Given the description of an element on the screen output the (x, y) to click on. 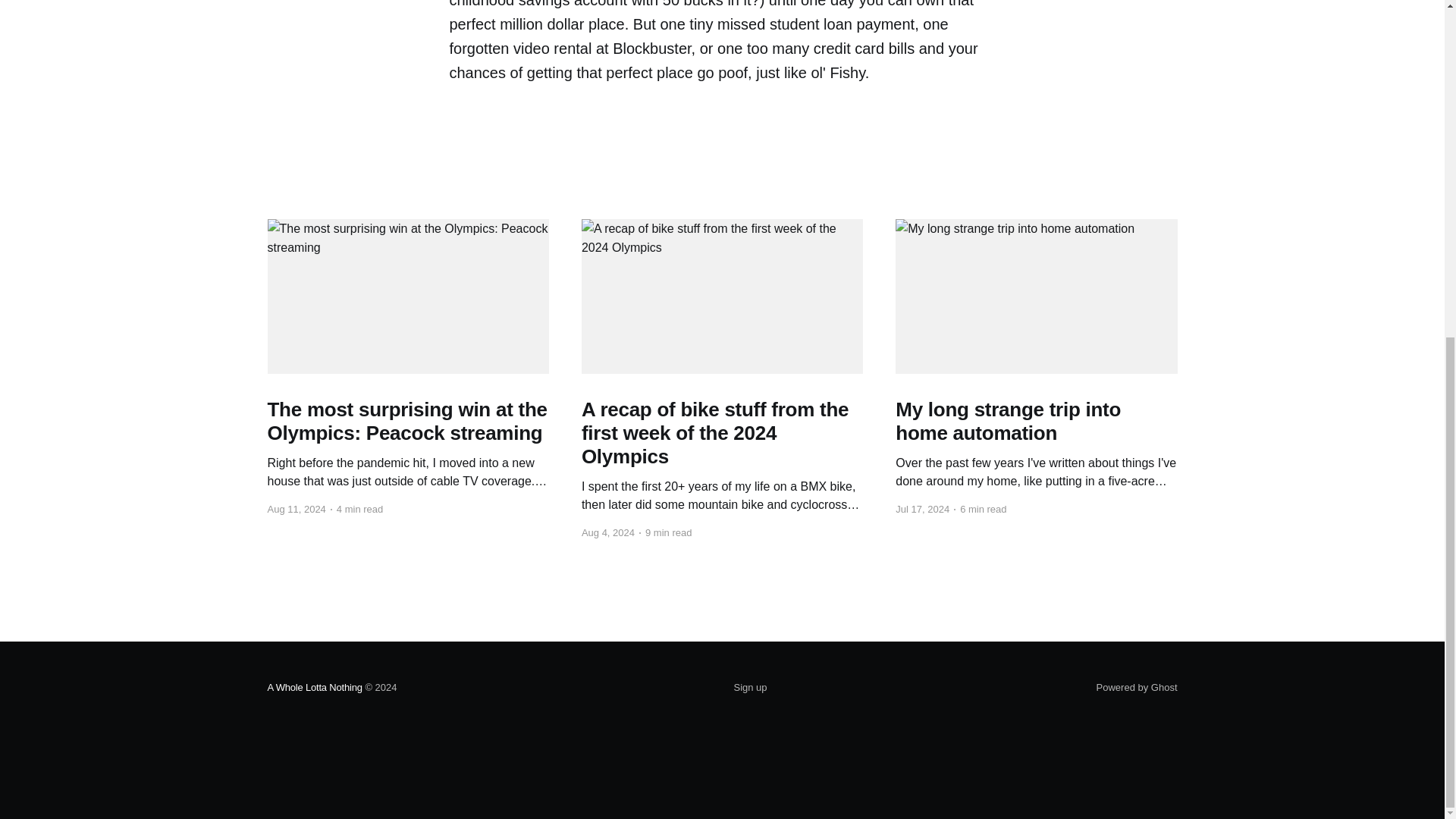
Powered by Ghost (1136, 686)
A Whole Lotta Nothing (313, 686)
Sign up (750, 687)
